Given the description of an element on the screen output the (x, y) to click on. 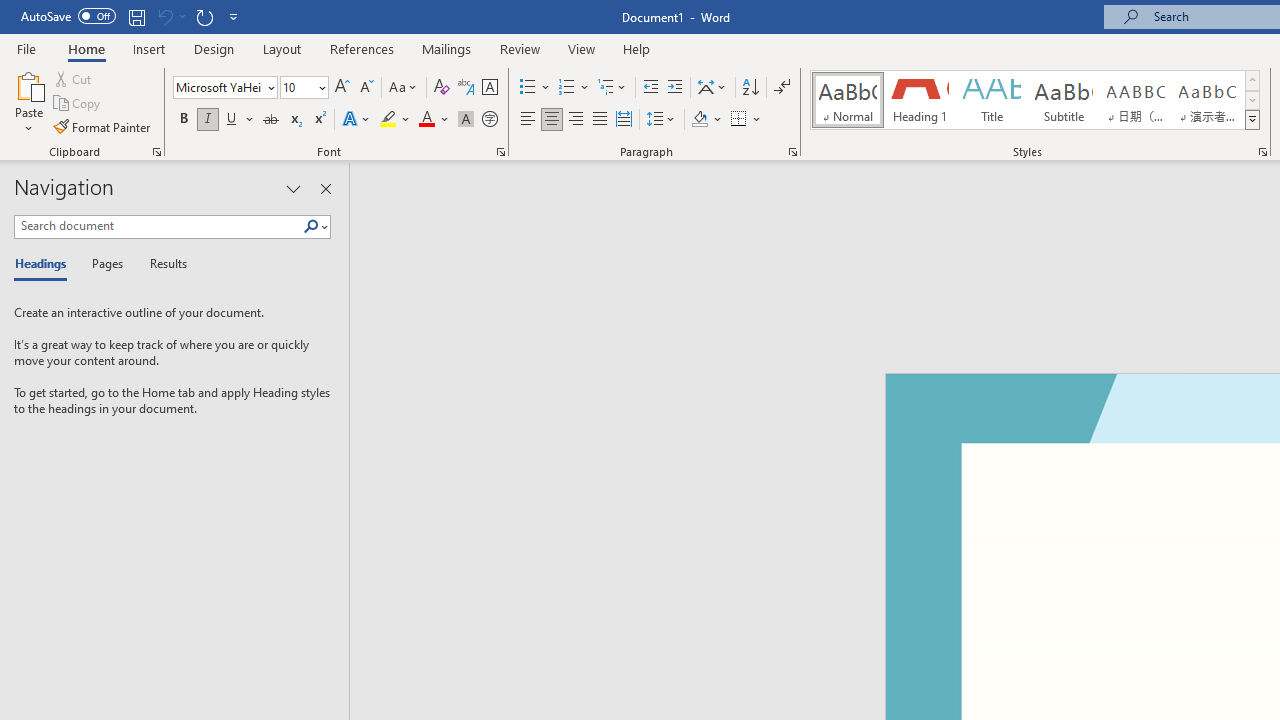
Can't Undo (164, 15)
